Given the description of an element on the screen output the (x, y) to click on. 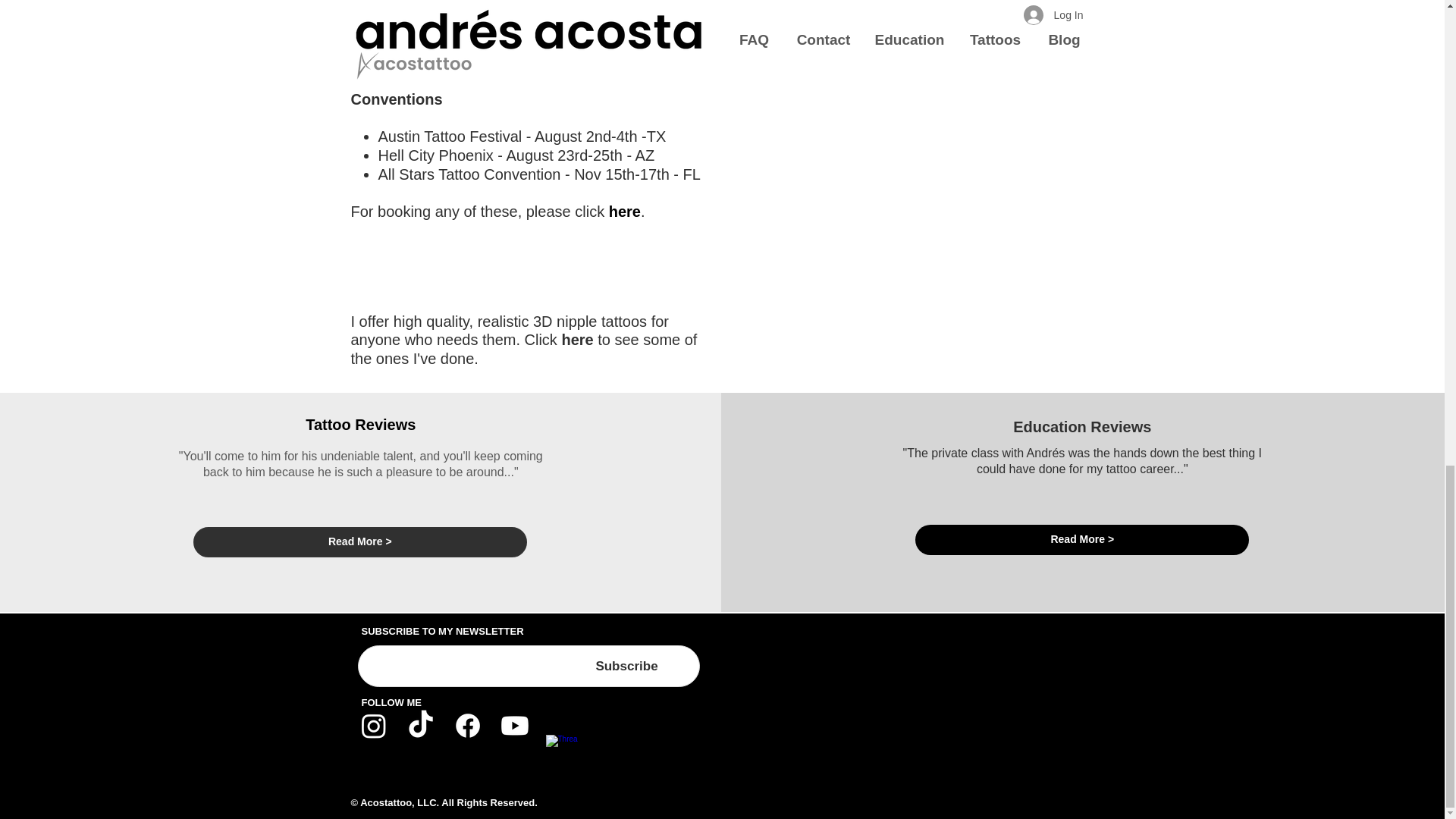
Subscribe (625, 665)
here (576, 339)
here (624, 211)
